Given the description of an element on the screen output the (x, y) to click on. 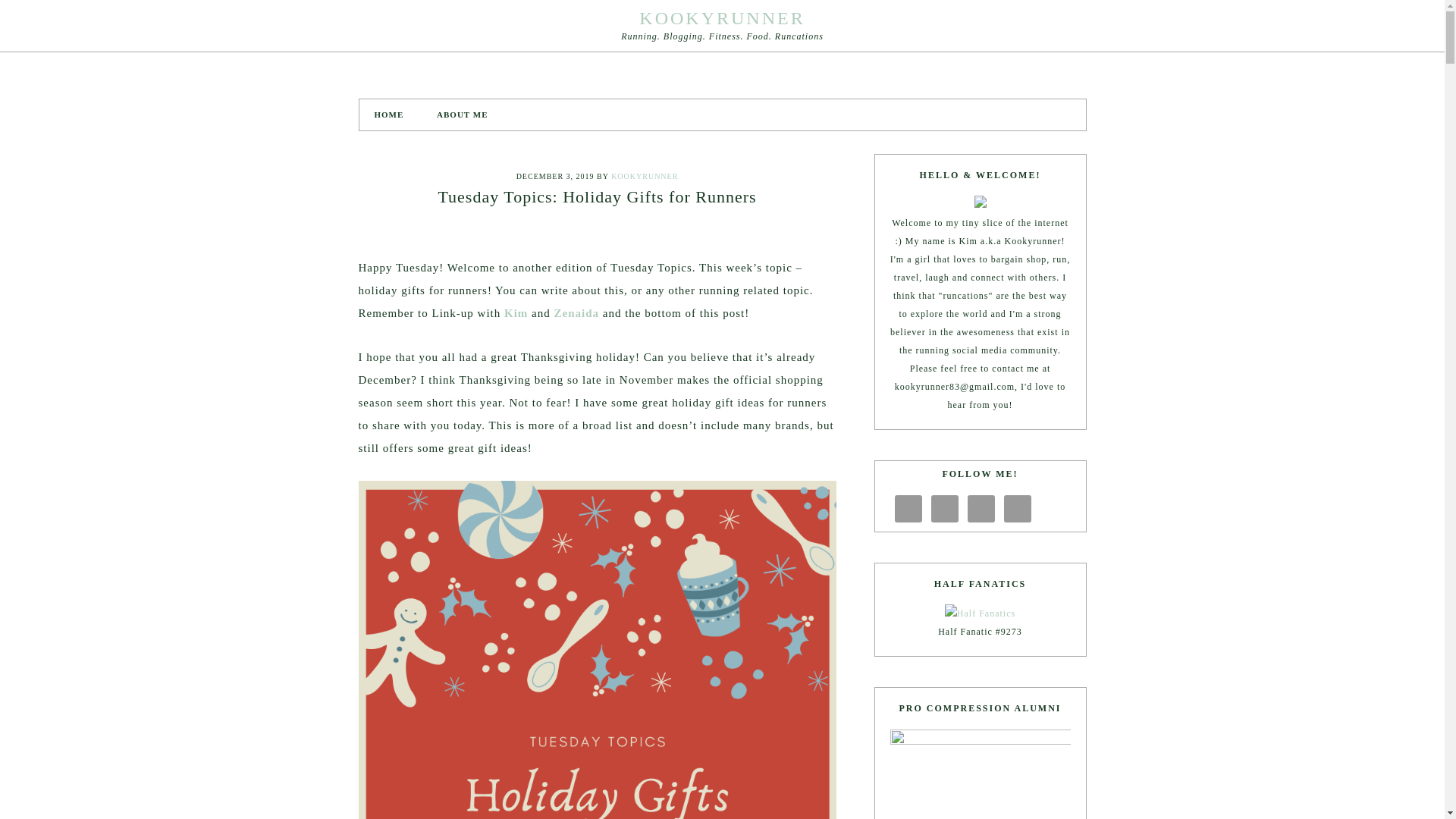
Zenaida (575, 313)
KOOKYRUNNER (722, 17)
HOME (389, 114)
ABOUT ME (462, 114)
Kim (515, 313)
KOOKYRUNNER (644, 175)
